Given the description of an element on the screen output the (x, y) to click on. 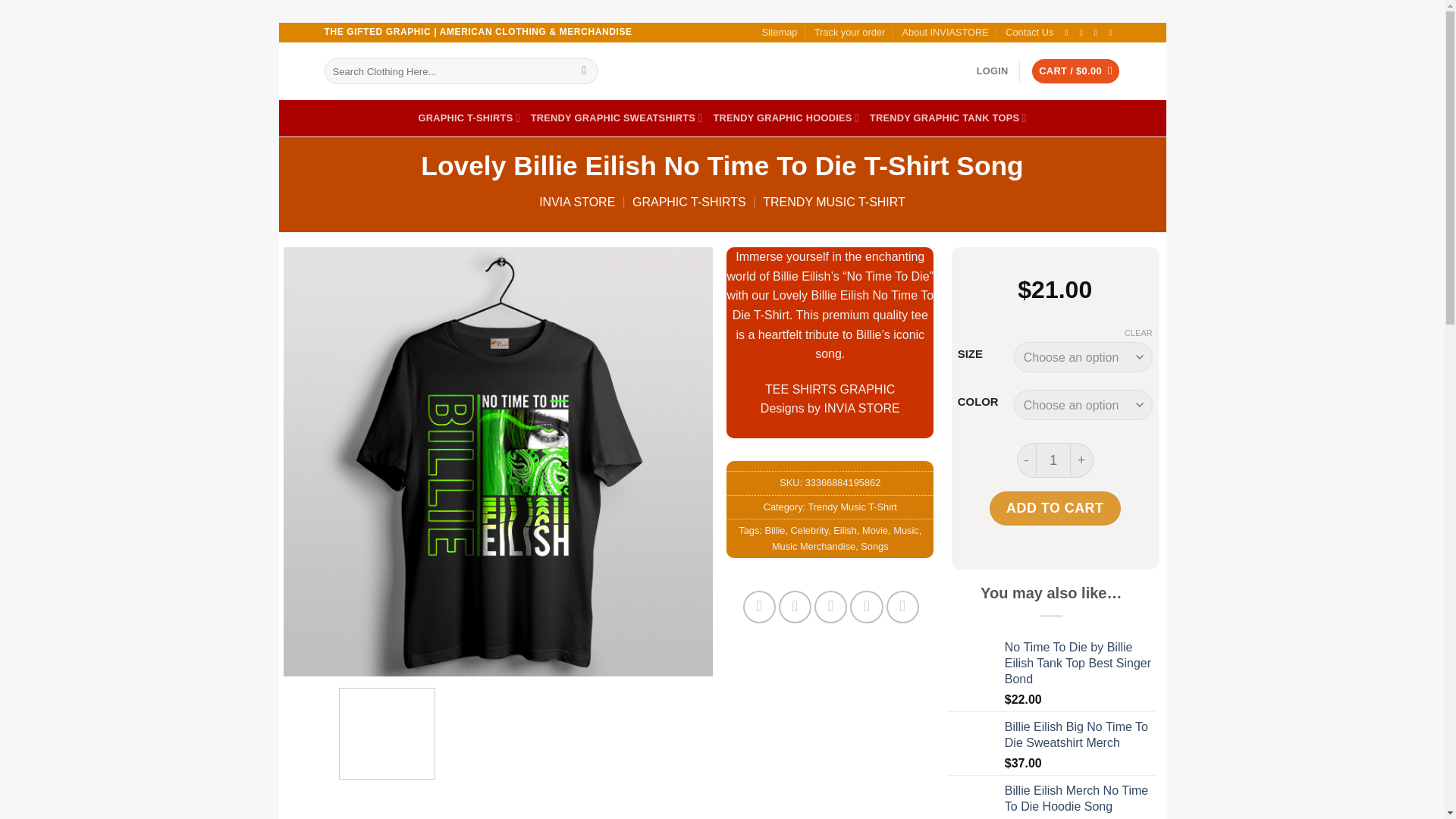
TRENDY GRAPHIC HOODIES (786, 117)
TRENDY GRAPHIC SWEATSHIRTS (617, 117)
Sitemap (778, 32)
Share on Twitter (794, 606)
Search (584, 71)
Pin on Pinterest (866, 606)
Track your order (849, 32)
Share on Facebook (759, 606)
GRAPHIC T-SHIRTS (468, 117)
INVIA STORE - The Gifted American Graphic Outfits (721, 71)
Email to a Friend (830, 606)
Zoom (305, 654)
